Given the description of an element on the screen output the (x, y) to click on. 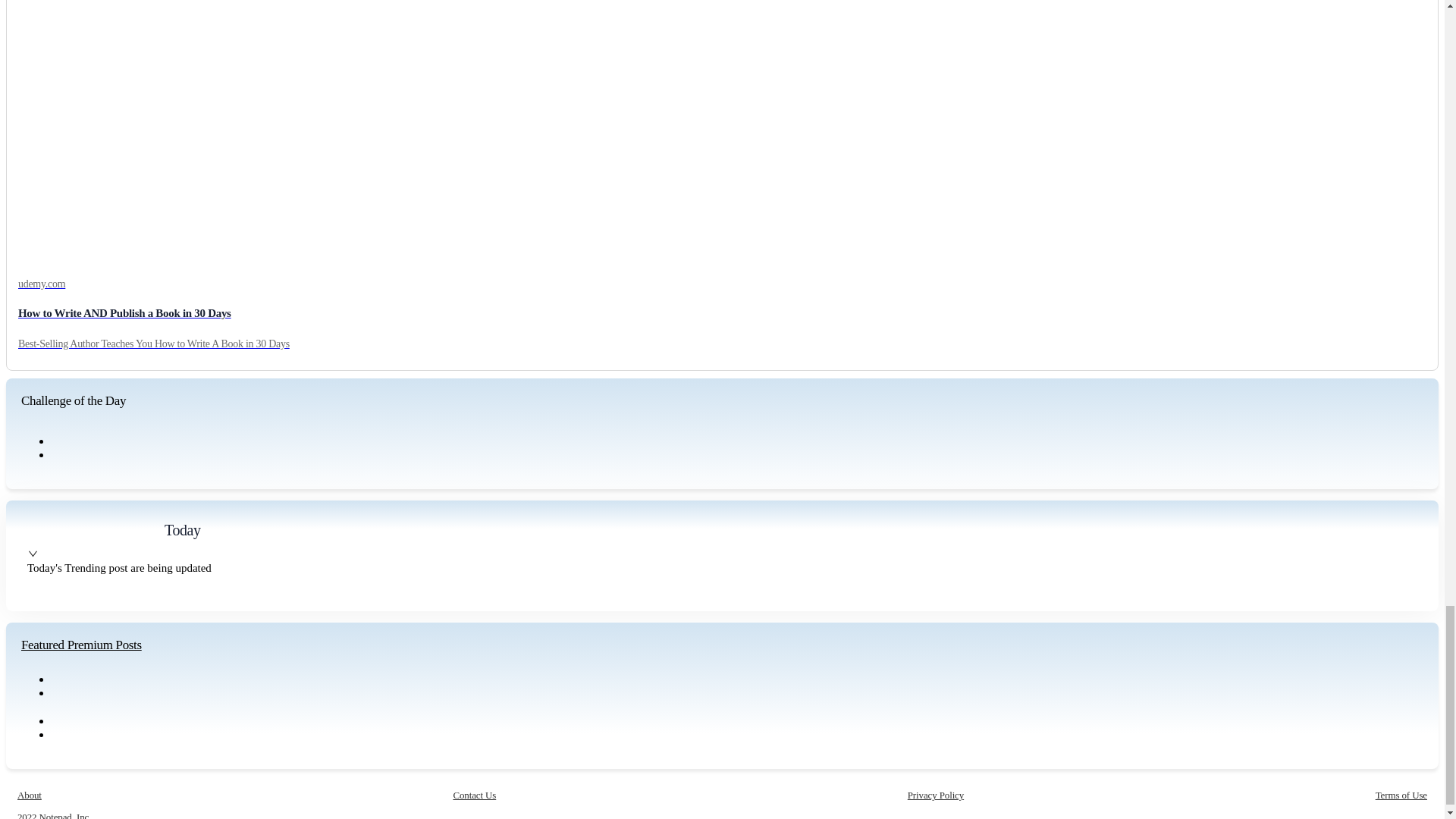
Privacy Policy (935, 795)
Featured Premium Posts (81, 644)
Terms of Use (1400, 795)
About (29, 795)
Today (182, 529)
Contact Us (474, 795)
